Given the description of an element on the screen output the (x, y) to click on. 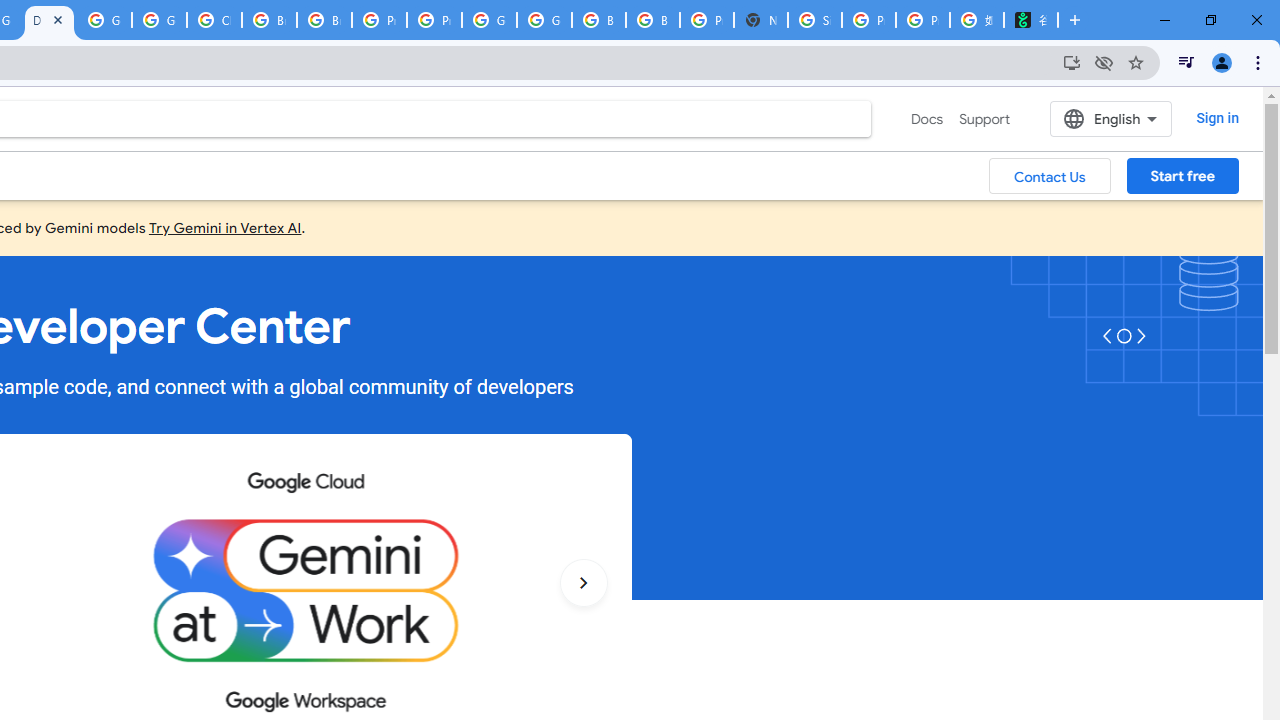
Google Cloud Platform (544, 20)
Google Cloud Platform (103, 20)
Docs (927, 119)
